Given the description of an element on the screen output the (x, y) to click on. 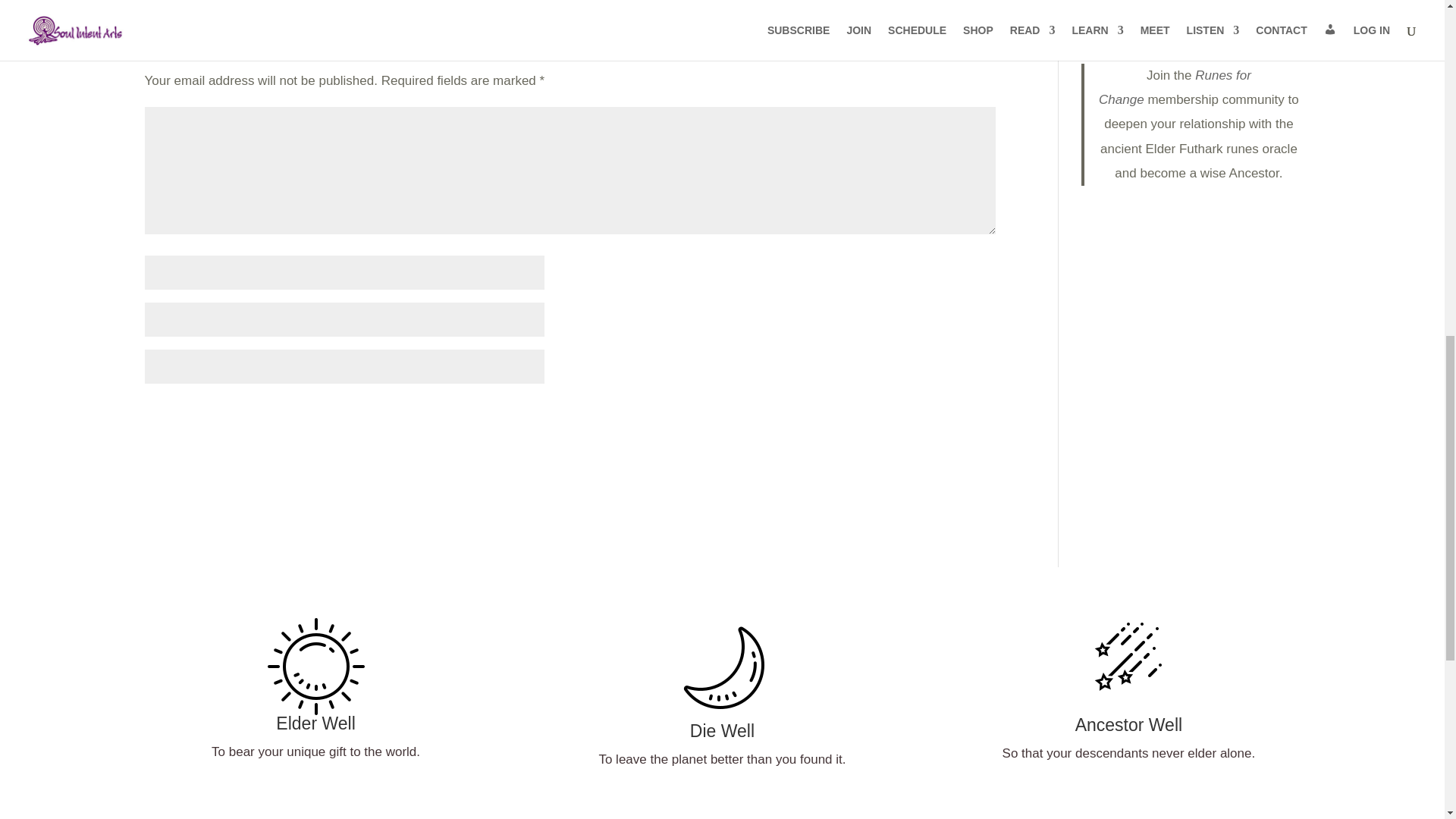
Submit Comment (919, 415)
